Given the description of an element on the screen output the (x, y) to click on. 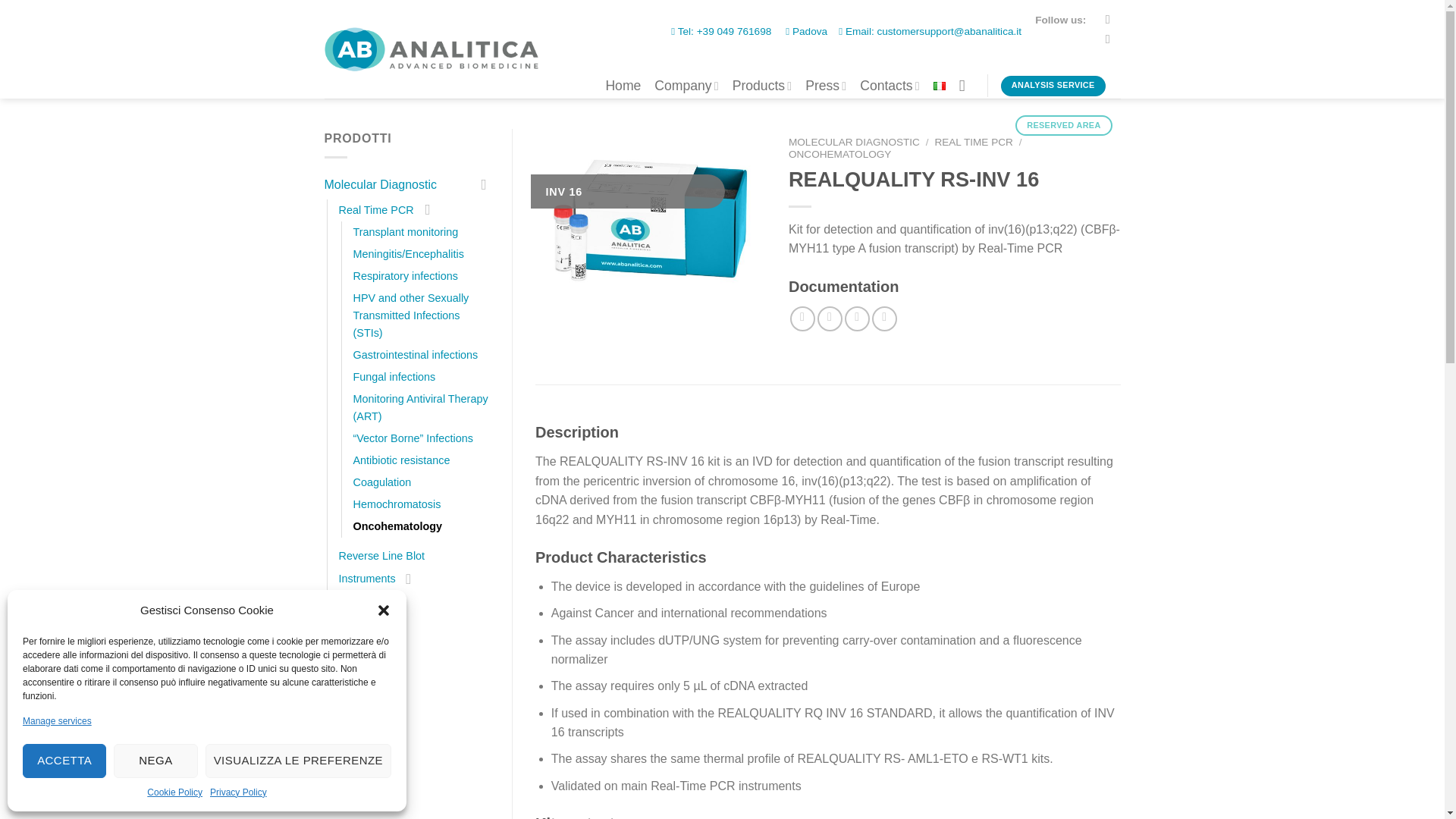
Company (685, 85)
VISUALIZZA LE PREFERENZE (298, 760)
Share on LinkedIn (884, 318)
Share on X (829, 318)
NEGA (154, 760)
Manage services (57, 721)
ACCETTA (64, 760)
Cookie Policy (174, 792)
Email to a Friend (856, 318)
AB ANALITICA - Advanced Biomedicine (431, 49)
Share on Facebook (802, 318)
Products (762, 85)
Padova (806, 30)
Privacy Policy (237, 792)
